Given the description of an element on the screen output the (x, y) to click on. 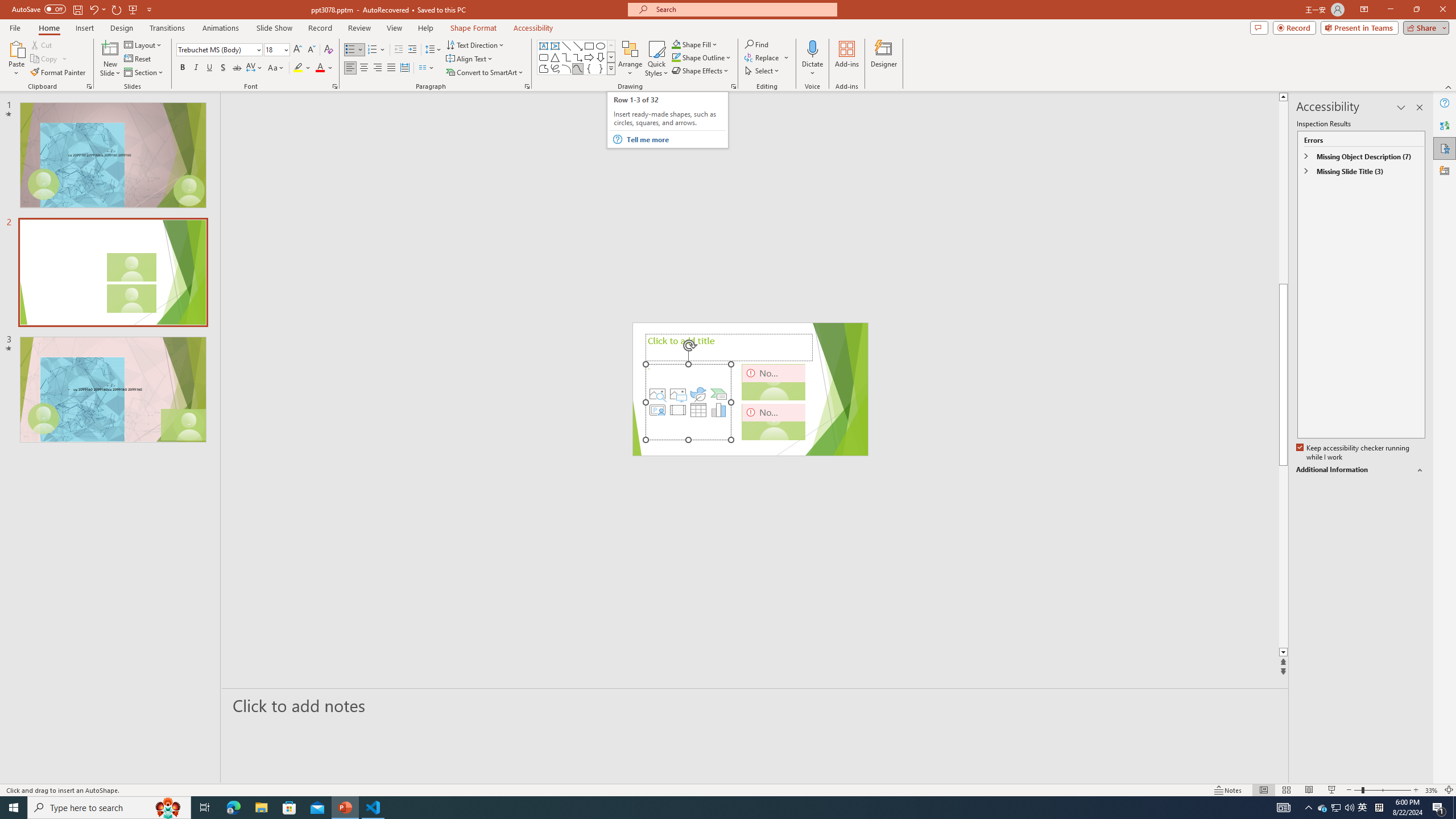
Zoom 33% (1431, 790)
Tell me more (675, 139)
